Given the description of an element on the screen output the (x, y) to click on. 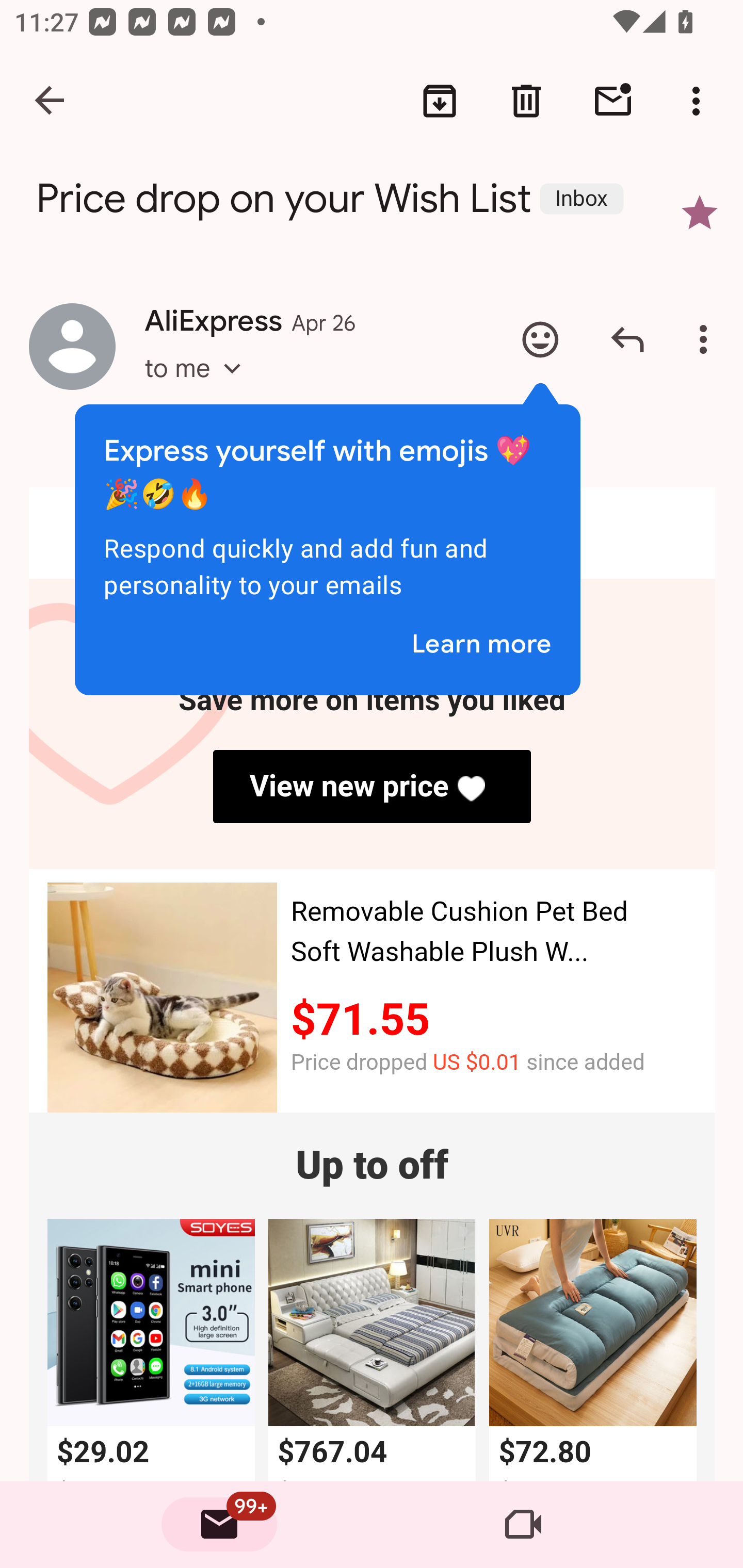
Navigate up (50, 101)
Archive (439, 101)
Delete (525, 101)
Mark unread (612, 101)
More options (699, 101)
Remove star (699, 212)
Add emoji reaction (540, 339)
Reply (626, 339)
More options (706, 339)
Show contact information for AliExpress (71, 346)
to me (199, 386)
Meet (523, 1524)
